Given the description of an element on the screen output the (x, y) to click on. 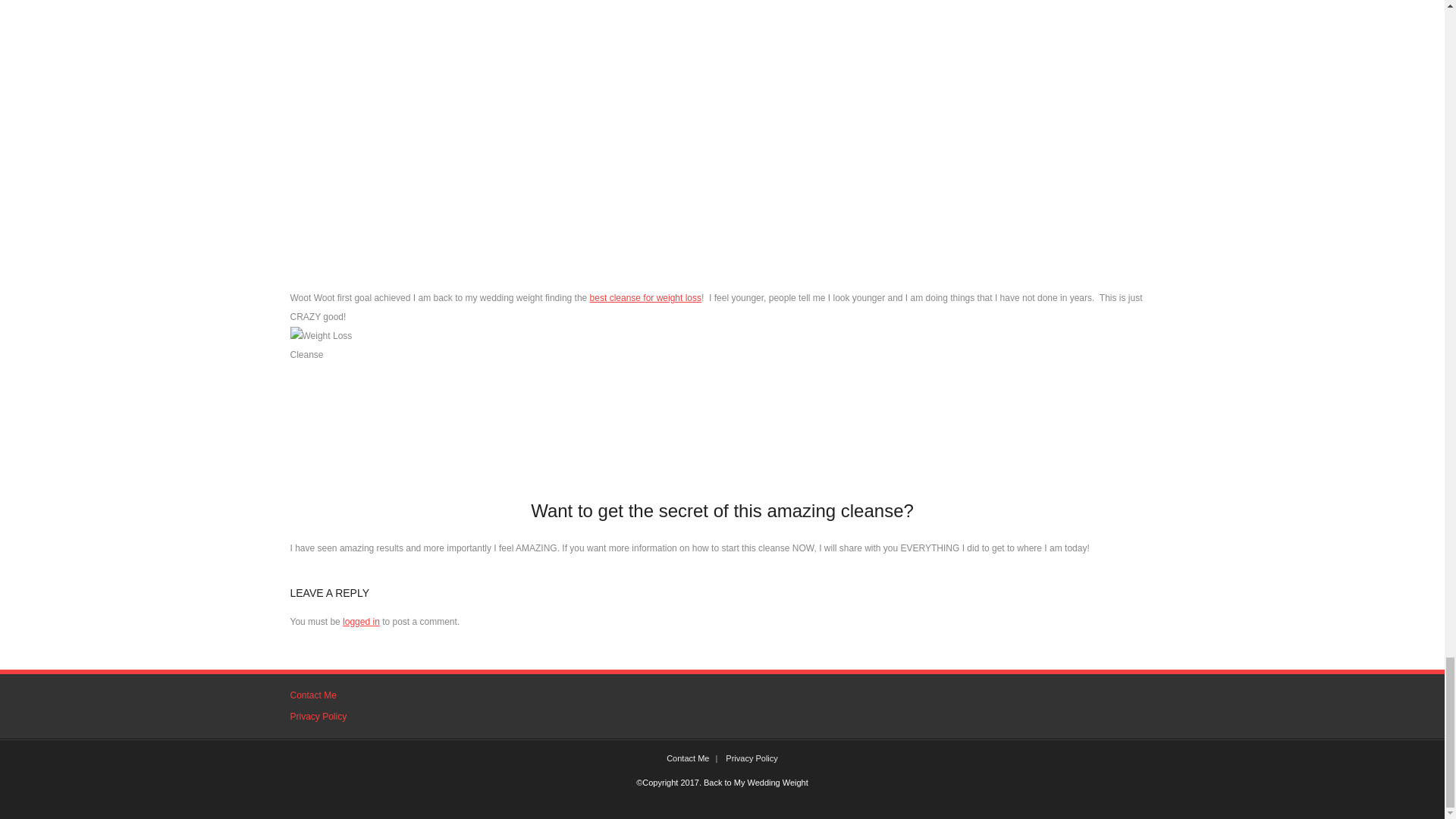
Contact Me (687, 757)
Contact Me (312, 696)
logged in (361, 621)
best cleanse for weight loss (645, 297)
Privacy Policy (317, 717)
Privacy Policy (751, 757)
